Given the description of an element on the screen output the (x, y) to click on. 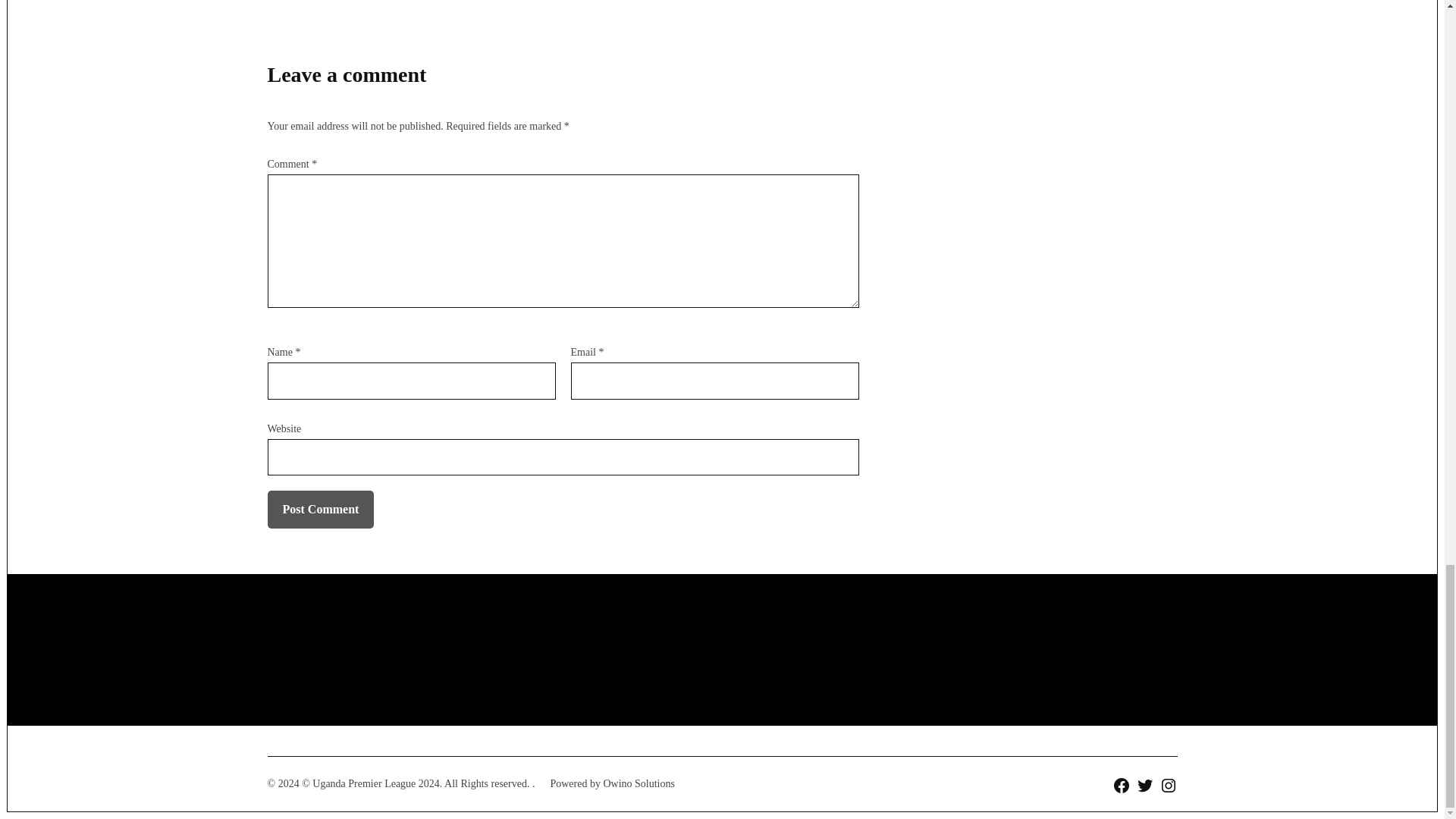
Post Comment (320, 509)
